Given the description of an element on the screen output the (x, y) to click on. 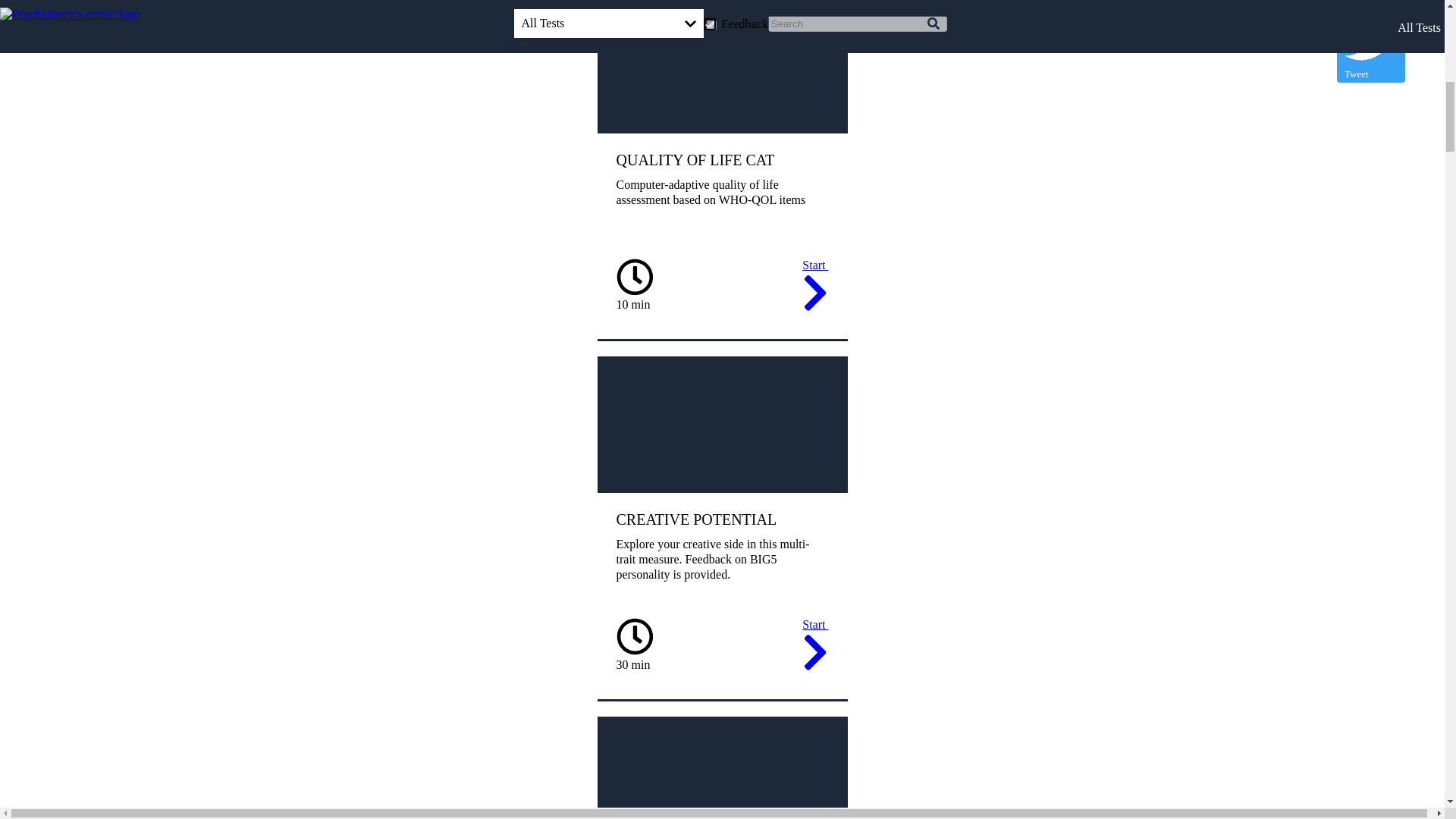
Start  (815, 286)
Share (1370, 8)
Start  (815, 647)
Tweet (1370, 45)
